Given the description of an element on the screen output the (x, y) to click on. 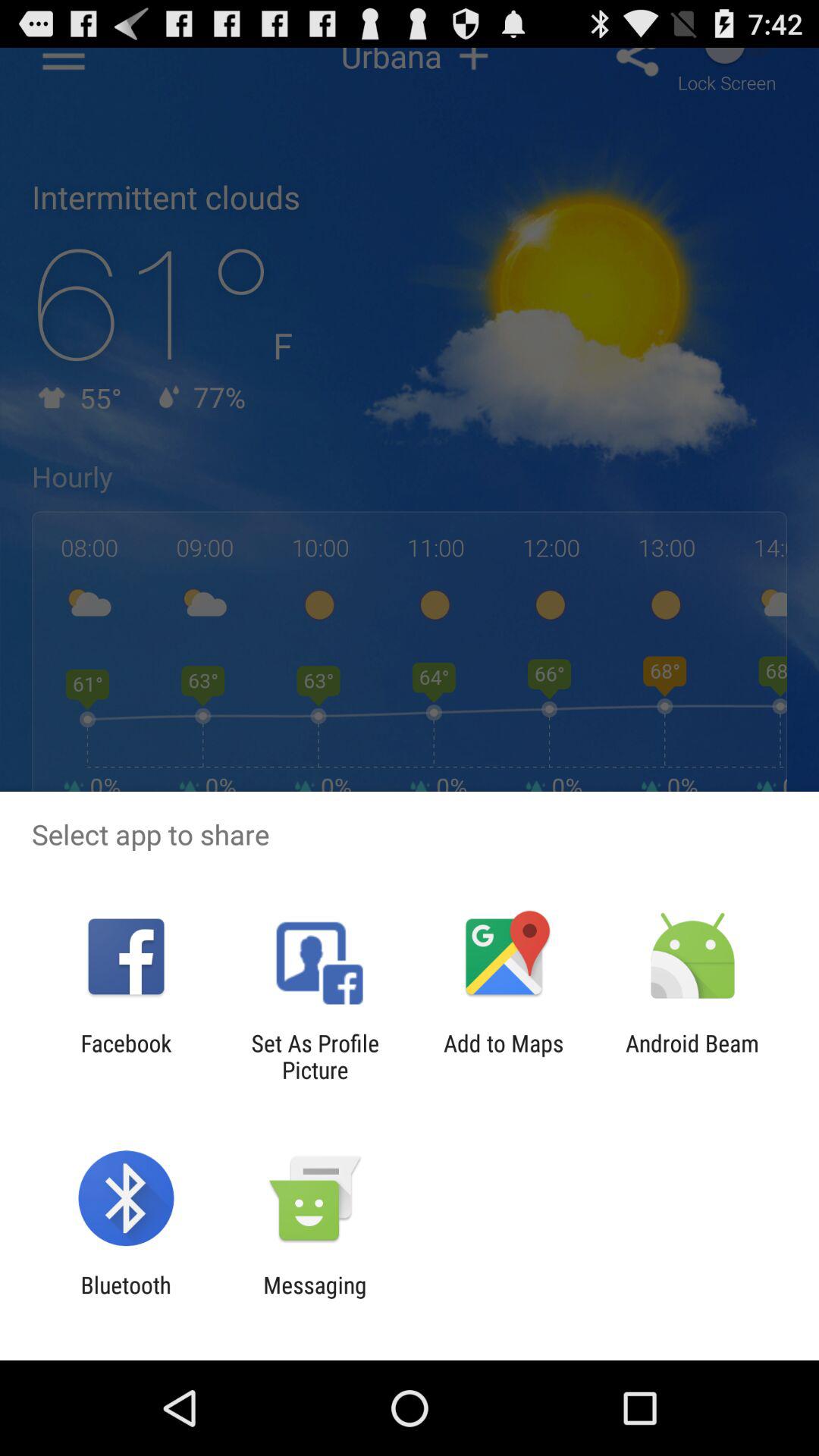
click item next to facebook (314, 1056)
